Given the description of an element on the screen output the (x, y) to click on. 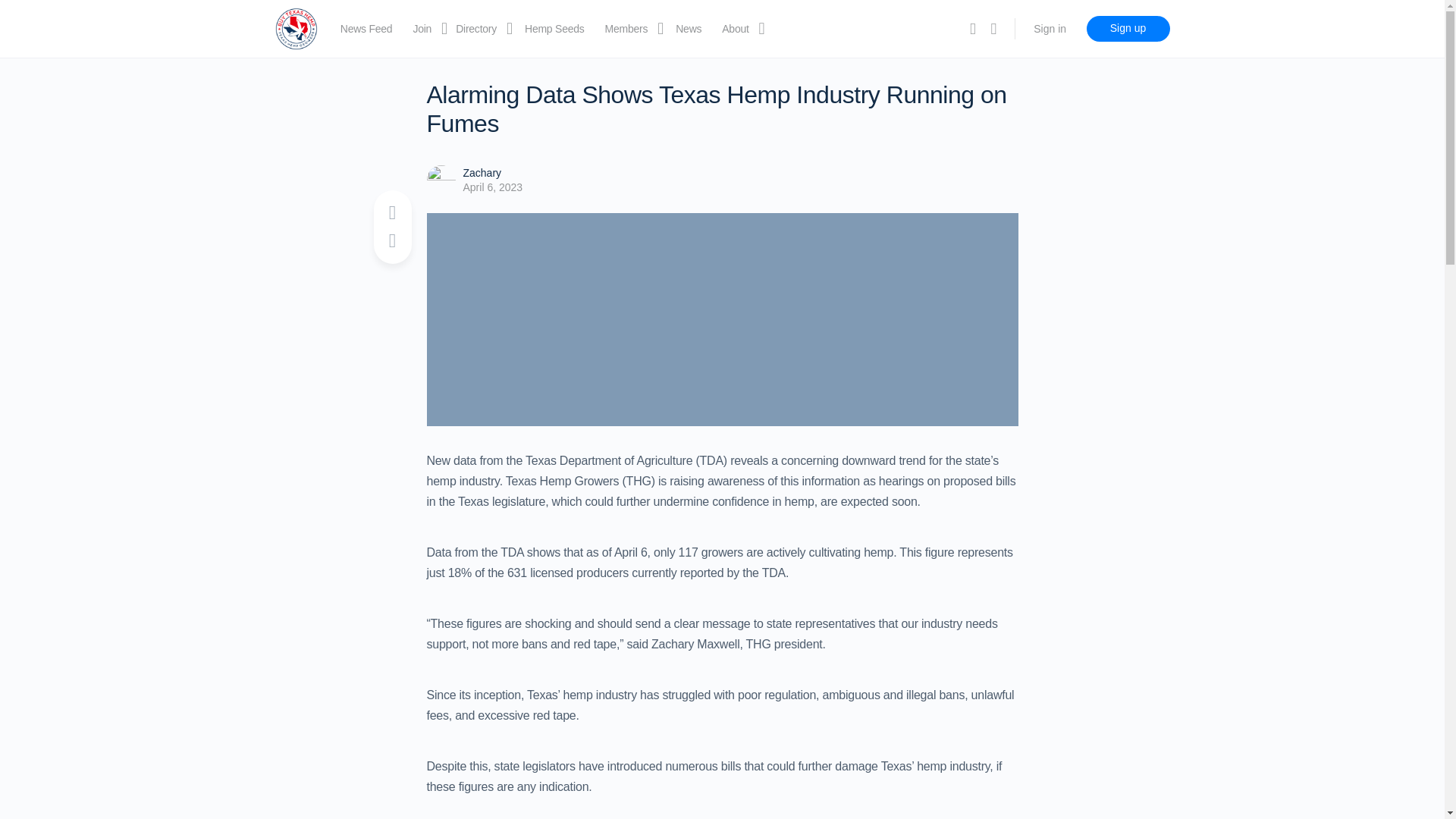
Hemp Seeds (554, 28)
Sign up (1127, 28)
Sign in (1050, 28)
News Feed (366, 28)
